Given the description of an element on the screen output the (x, y) to click on. 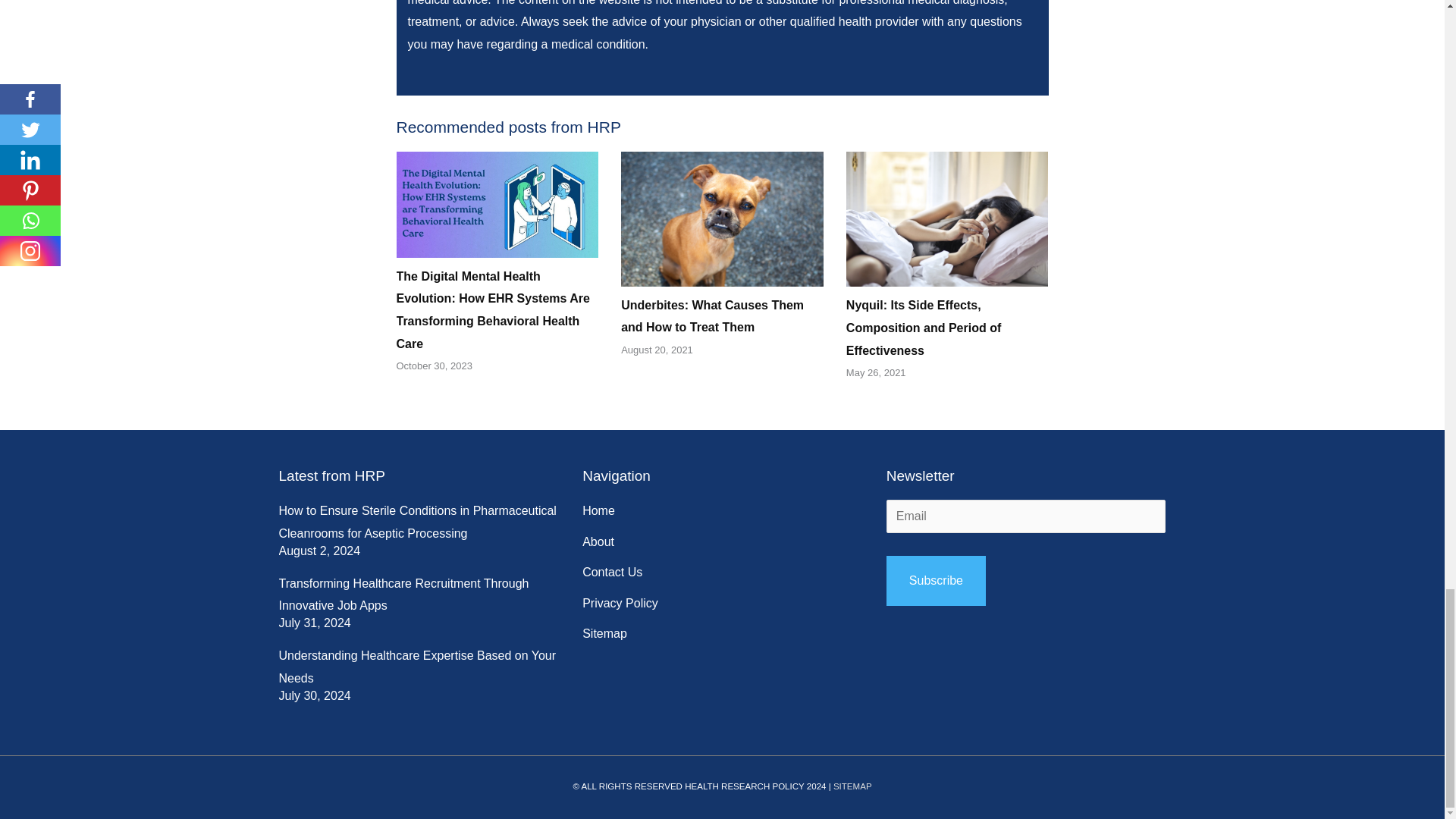
Underbites: What Causes Them and How to Treat Them (712, 316)
SITEMAP (852, 786)
About (598, 541)
Privacy Policy (620, 603)
Subscribe (935, 581)
Sitemap (604, 633)
Home (598, 510)
Contact Us (612, 572)
Understanding Healthcare Expertise Based on Your Needs (417, 666)
Subscribe (935, 581)
